Given the description of an element on the screen output the (x, y) to click on. 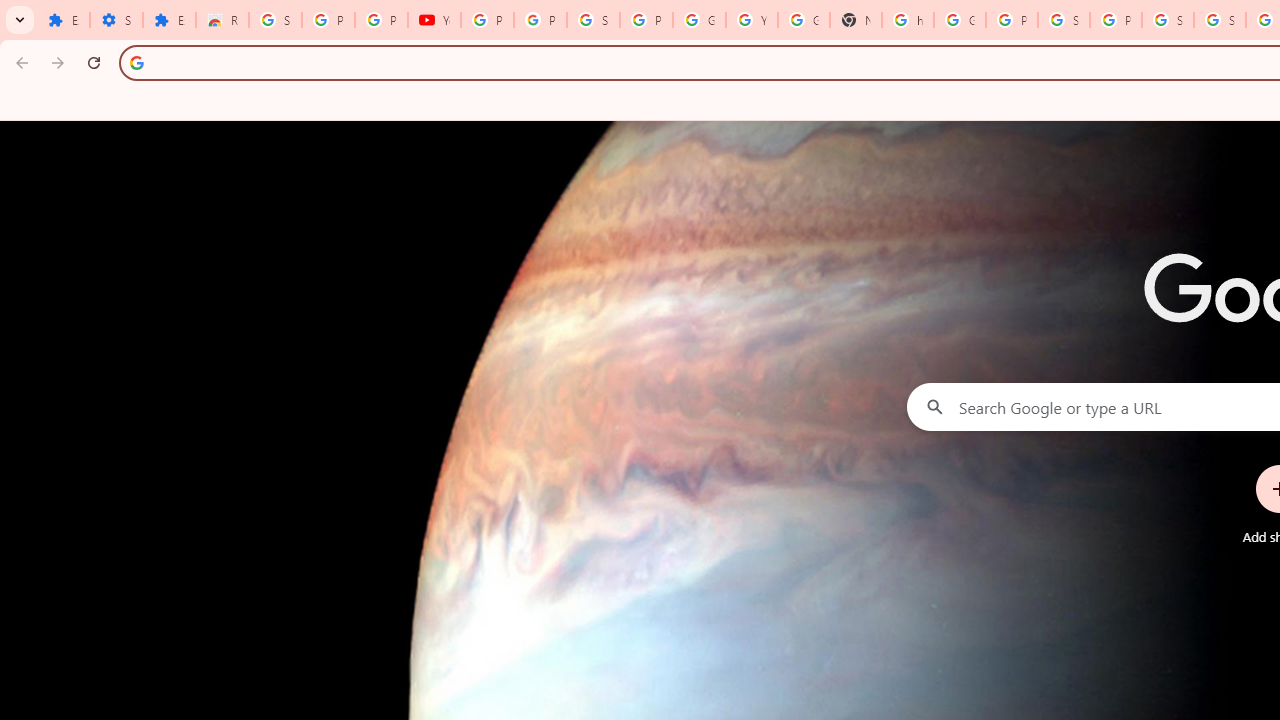
Sign in - Google Accounts (1167, 20)
YouTube (434, 20)
Extensions (63, 20)
New Tab (855, 20)
Sign in - Google Accounts (593, 20)
